Given the description of an element on the screen output the (x, y) to click on. 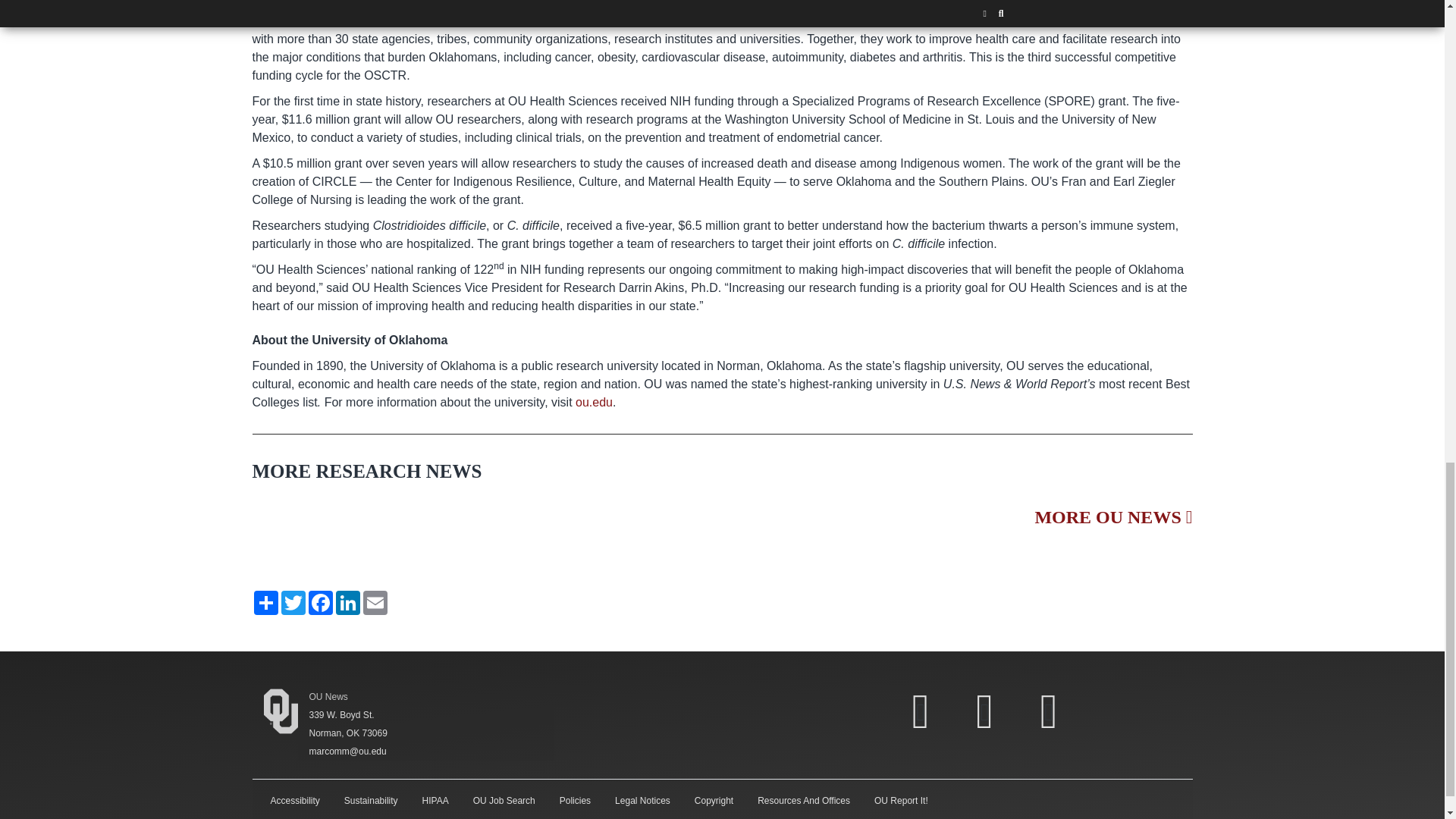
Sustainability (370, 800)
LinkedIn (347, 602)
OU Instagram link (1047, 710)
Email (374, 602)
Resources And Offices (803, 800)
Facebook (319, 602)
Copyright (713, 800)
OU Twitter link (984, 710)
Share (265, 602)
MORE OU NEWS (1112, 516)
